Given the description of an element on the screen output the (x, y) to click on. 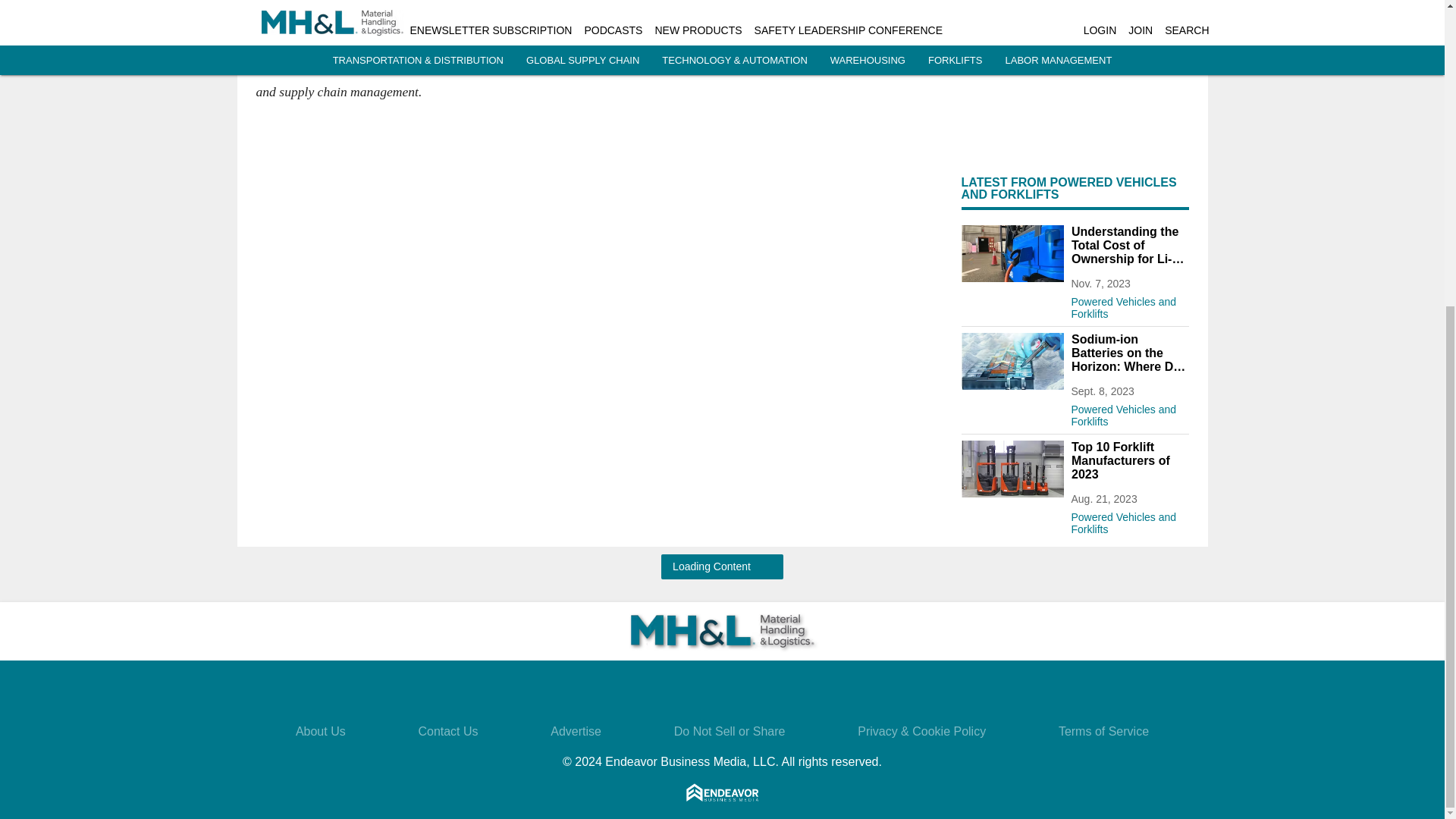
4 Forklifts (1012, 468)
Electric Forklift Charging (1012, 253)
